Given the description of an element on the screen output the (x, y) to click on. 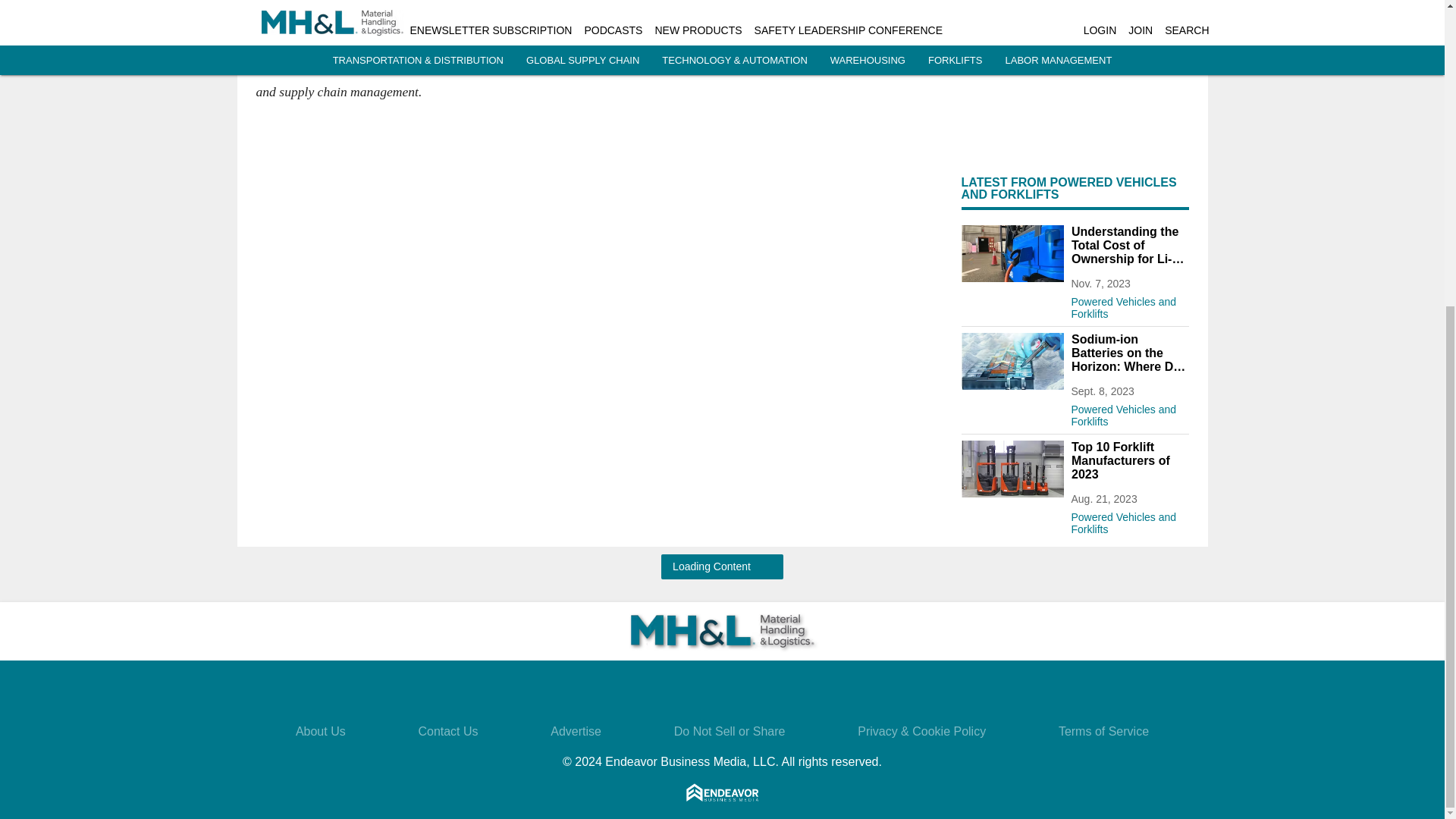
4 Forklifts (1012, 468)
Electric Forklift Charging (1012, 253)
